Given the description of an element on the screen output the (x, y) to click on. 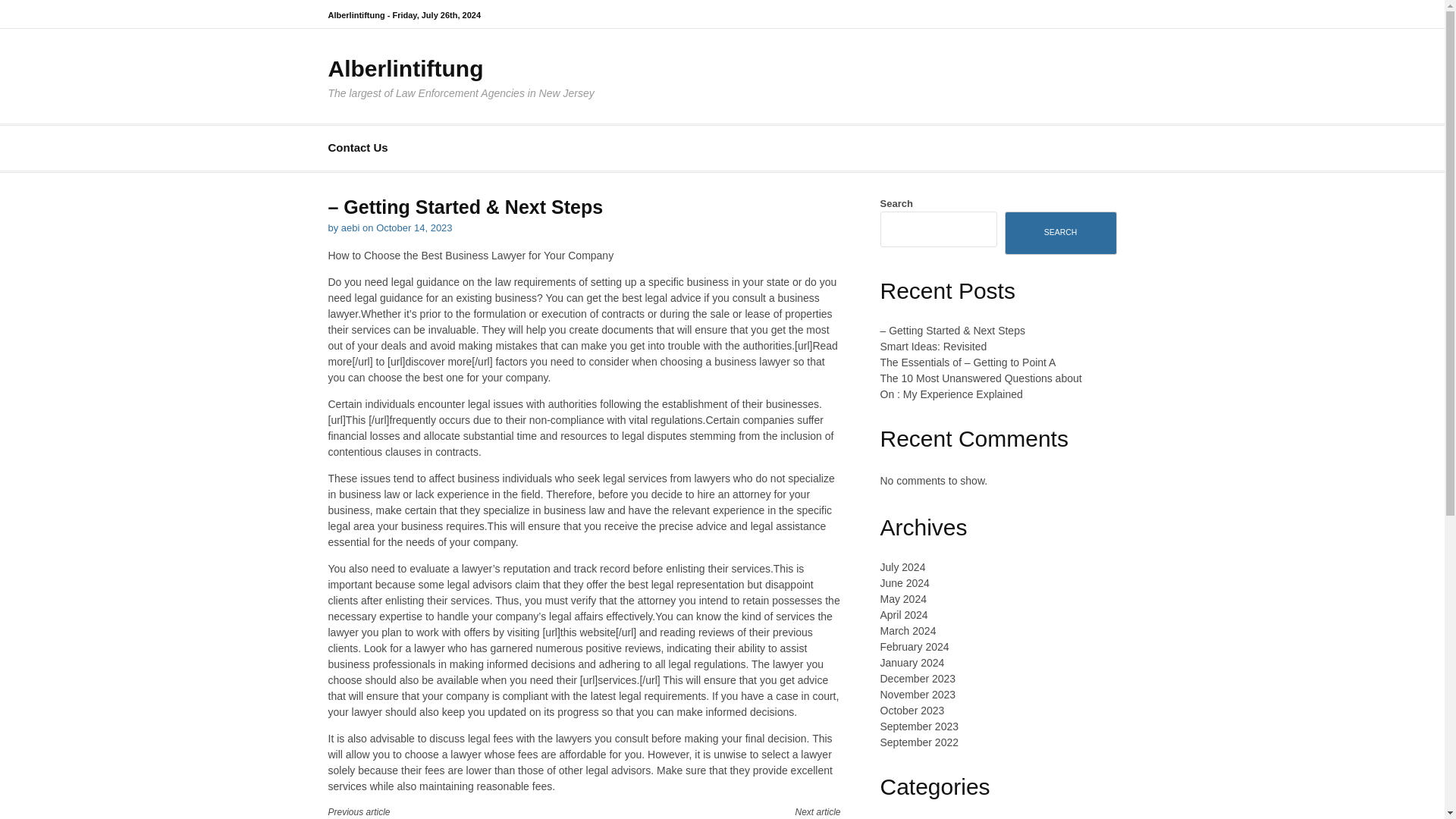
July 2024 (901, 567)
December 2023 (917, 678)
May 2024 (902, 598)
SEARCH (1060, 232)
aebi (349, 227)
September 2022 (918, 742)
April 2024 (903, 614)
January 2024 (911, 662)
September 2023 (918, 726)
March 2024 (907, 630)
February 2024 (914, 646)
June 2024 (903, 582)
The 10 Most Unanswered Questions about (980, 378)
November 2023 (725, 812)
